Given the description of an element on the screen output the (x, y) to click on. 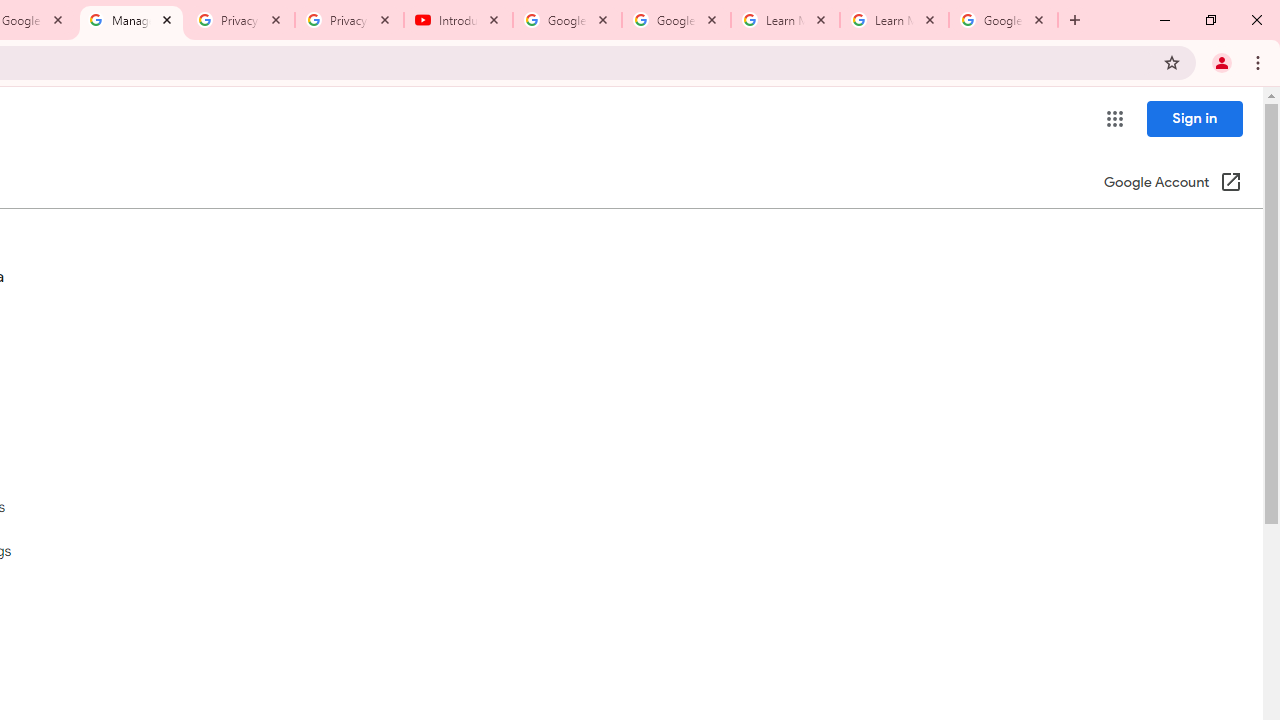
Google Account Help (567, 20)
Google Account (1003, 20)
Introduction | Google Privacy Policy - YouTube (458, 20)
Google Account Help (676, 20)
